Given the description of an element on the screen output the (x, y) to click on. 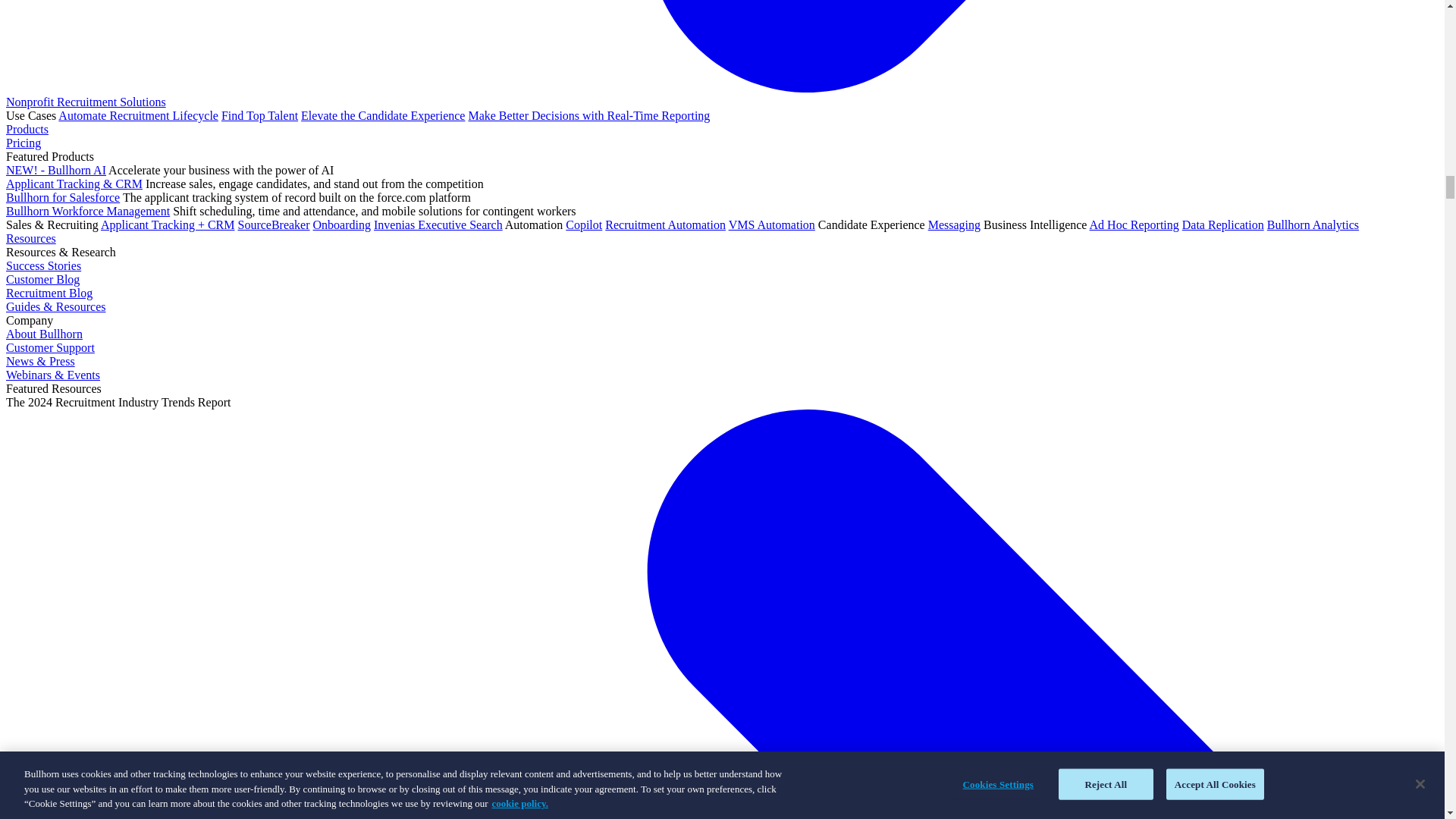
Invenias Executive Search (438, 224)
Recruitment Automation (665, 224)
Bullhorn Analytics (1312, 224)
Bullhorn Workforce Management (87, 210)
Customer Blog (42, 278)
VMS Automation (772, 224)
Data Replication (1222, 224)
Elevate the Candidate Experience (382, 115)
Resources (30, 237)
Messaging (953, 224)
Success Stories (43, 265)
Find Top Talent (259, 115)
Bullhorn for Salesforce (62, 196)
Onboarding (342, 224)
Copilot (584, 224)
